Given the description of an element on the screen output the (x, y) to click on. 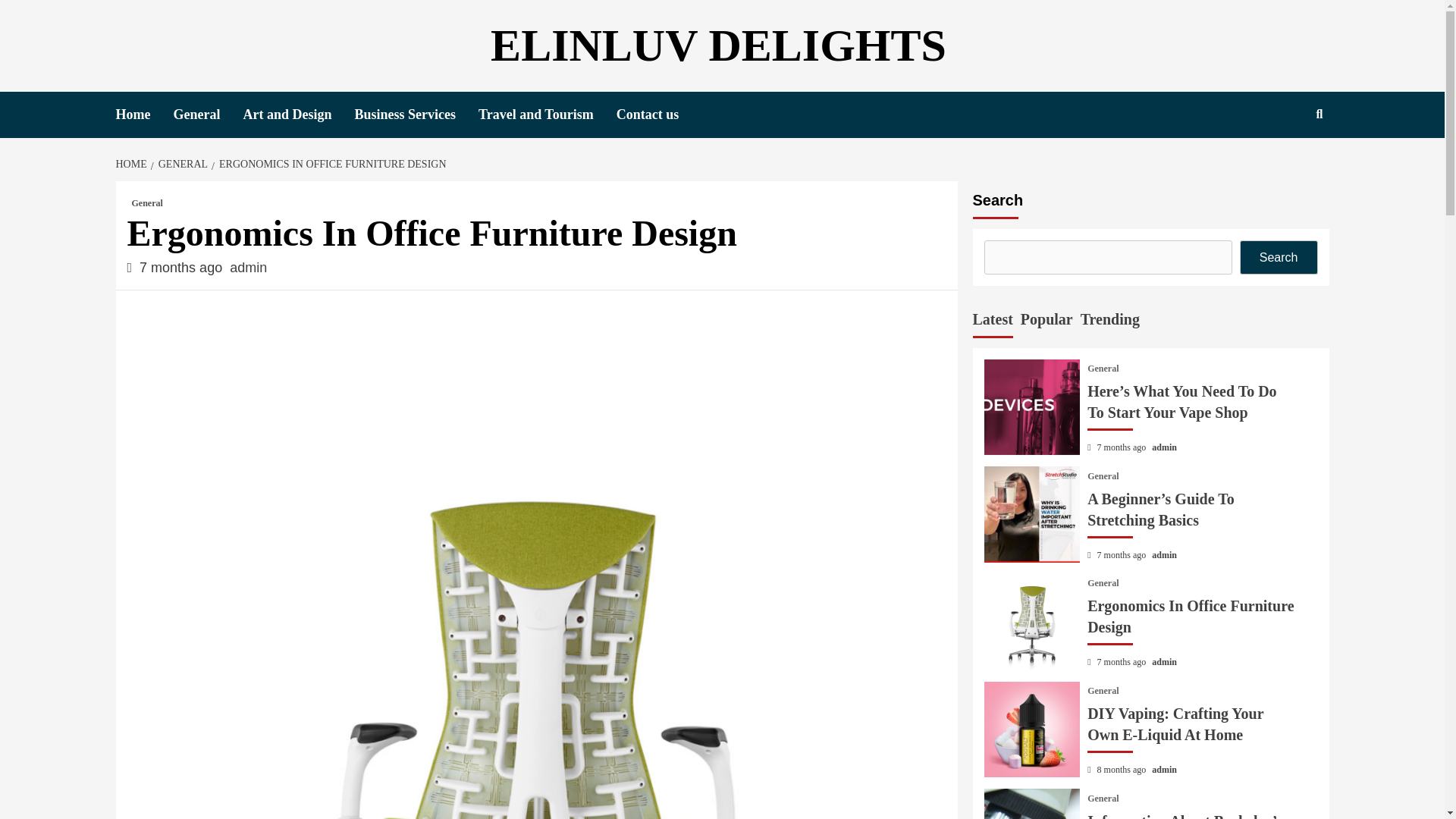
Home (144, 114)
Popular (1046, 321)
ERGONOMICS IN OFFICE FURNITURE DESIGN (330, 163)
GENERAL (181, 163)
admin (248, 267)
Business Services (416, 114)
ELINLUV DELIGHTS (718, 45)
General (1102, 368)
Search (1283, 163)
General (147, 202)
Trending (1110, 321)
admin (1163, 447)
Latest (991, 321)
Contact us (658, 114)
Art and Design (298, 114)
